Given the description of an element on the screen output the (x, y) to click on. 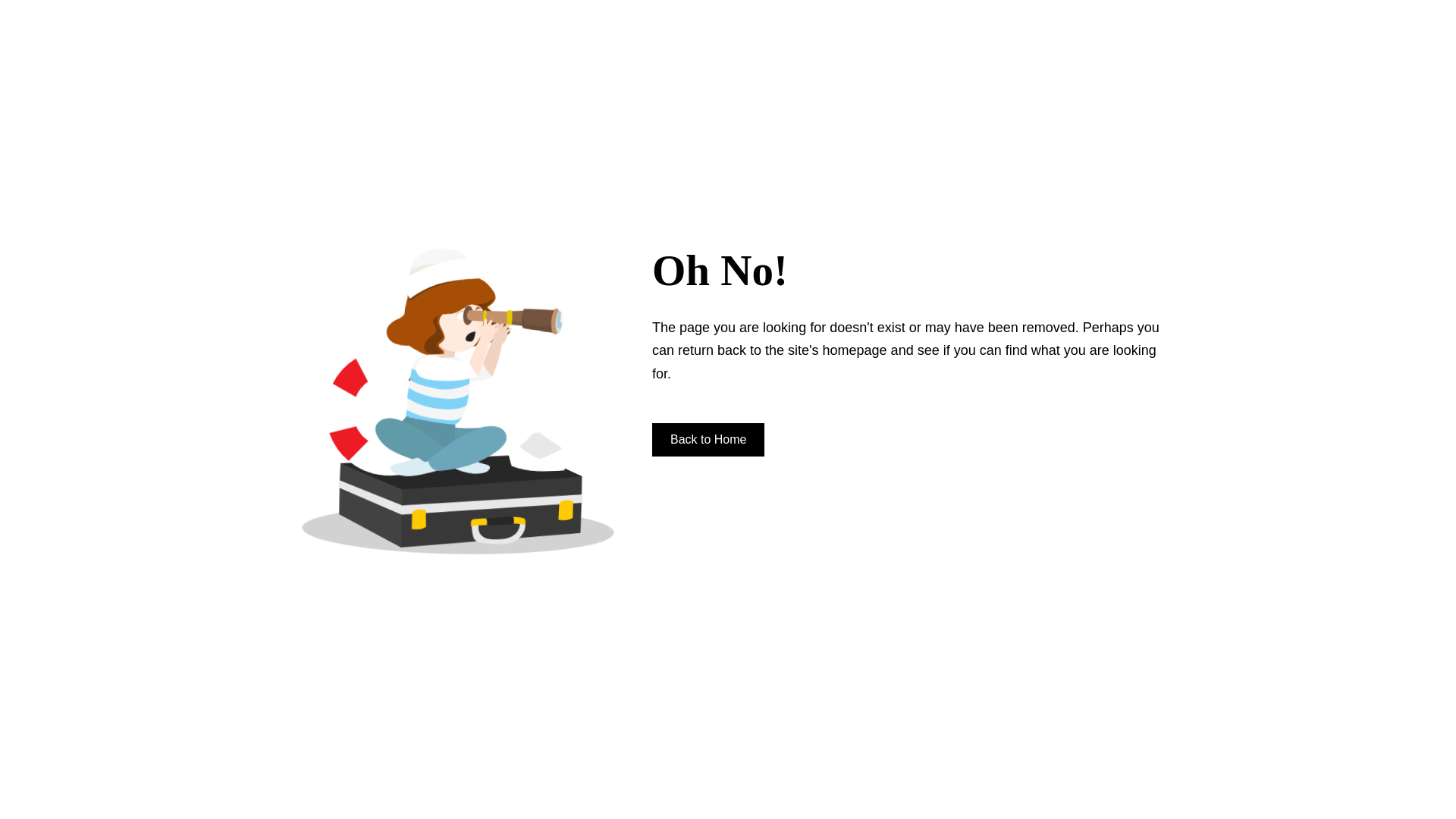
Back to Home Element type: text (708, 439)
